Given the description of an element on the screen output the (x, y) to click on. 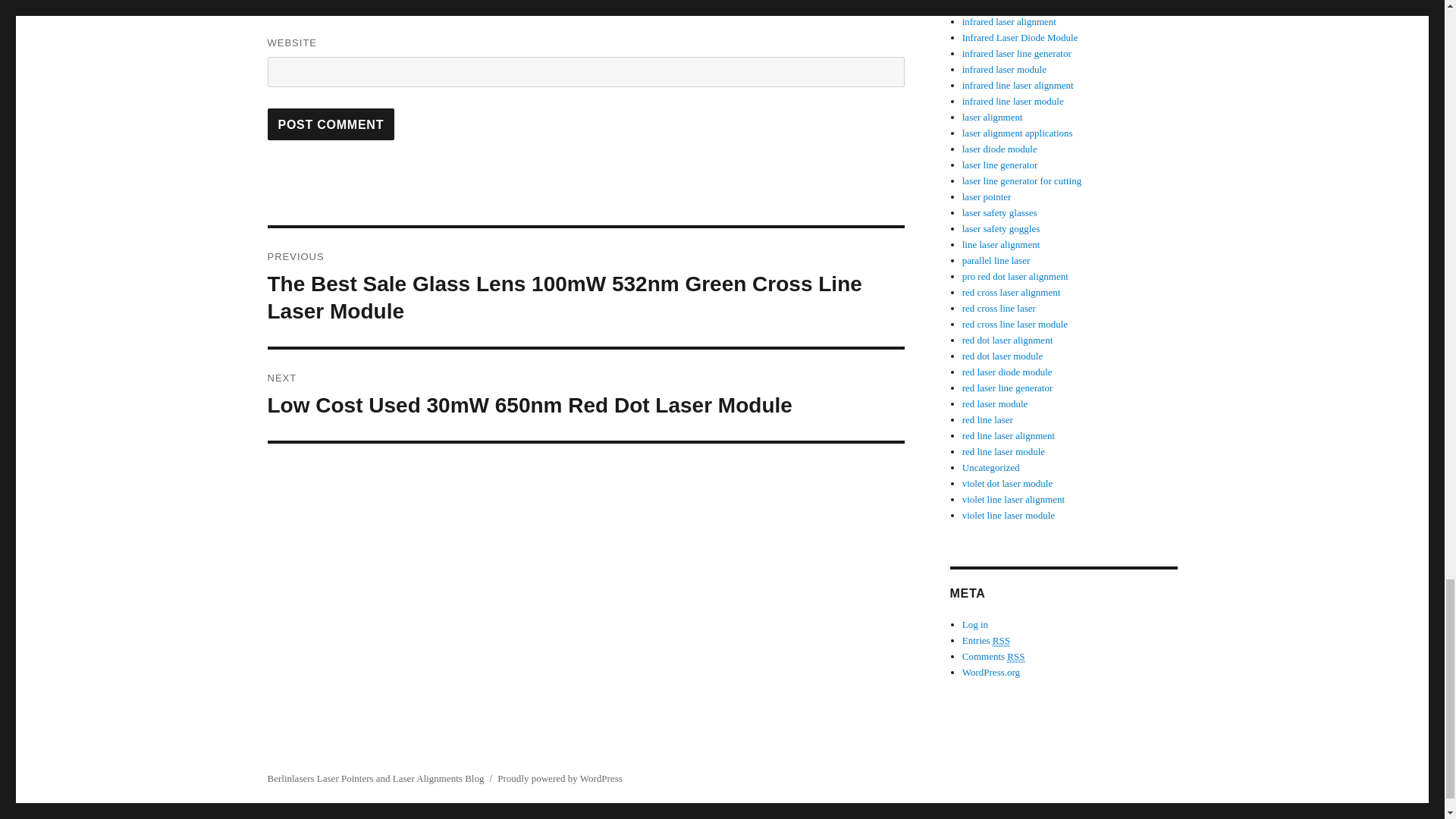
Really Simple Syndication (1001, 640)
Post Comment (330, 124)
Post Comment (330, 124)
Really Simple Syndication (1016, 656)
